Given the description of an element on the screen output the (x, y) to click on. 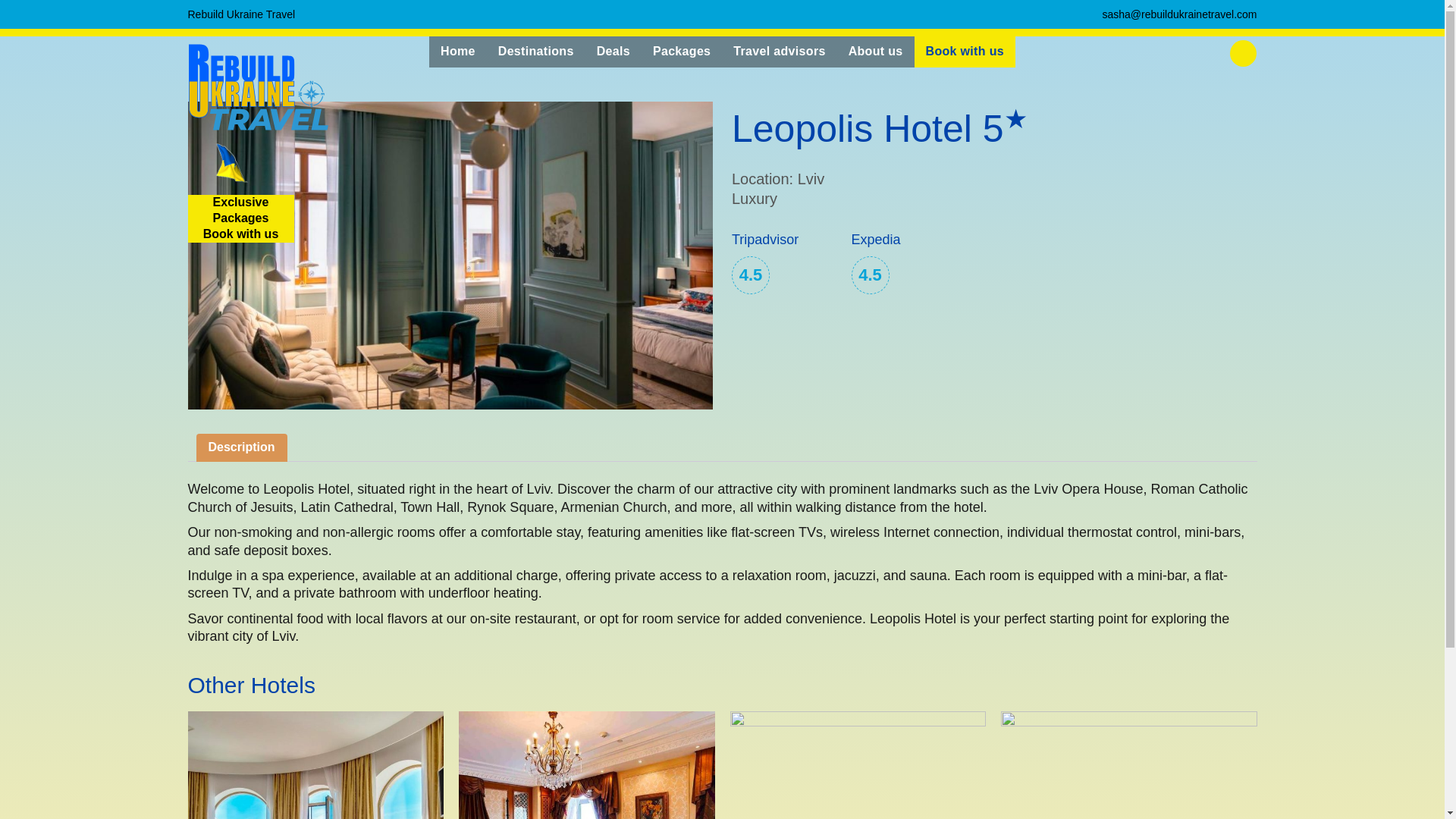
Lviv (49, 6)
About us (875, 51)
Deals (613, 51)
Home (14, 6)
Destinations (535, 51)
Packages (682, 51)
George Hotel (857, 765)
Rebuild Ukraine Travel (240, 217)
Travel advisors (241, 14)
Description (778, 51)
Wien Hotel (241, 447)
Home (1129, 765)
Book with us (457, 51)
